Given the description of an element on the screen output the (x, y) to click on. 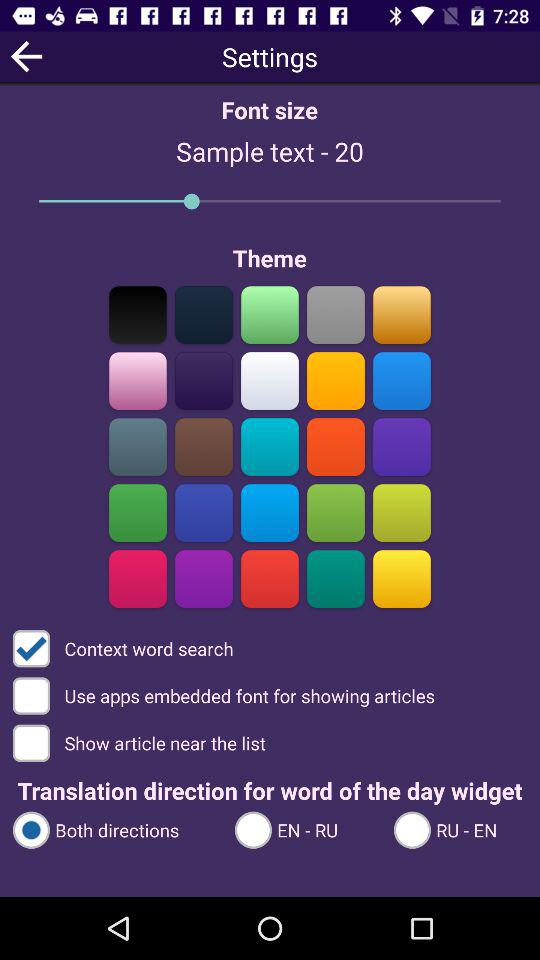
view color (269, 446)
